Given the description of an element on the screen output the (x, y) to click on. 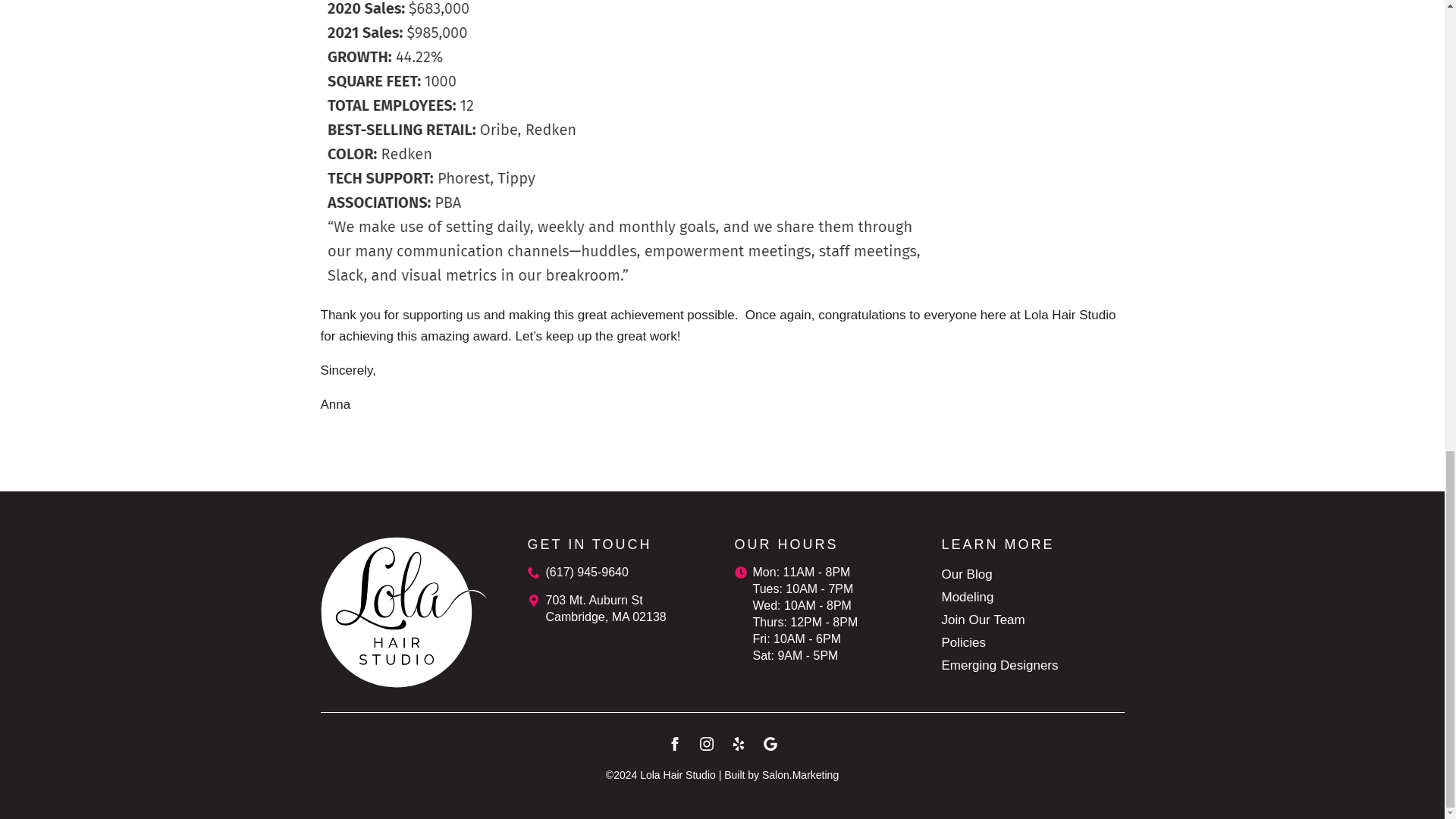
Join Our Team (983, 619)
Google (770, 743)
Modeling (968, 597)
Emerging Designers (1000, 665)
Facebook (674, 743)
Instagram (706, 743)
Our Blog (967, 574)
Yelp (738, 743)
Policies (964, 642)
